Given the description of an element on the screen output the (x, y) to click on. 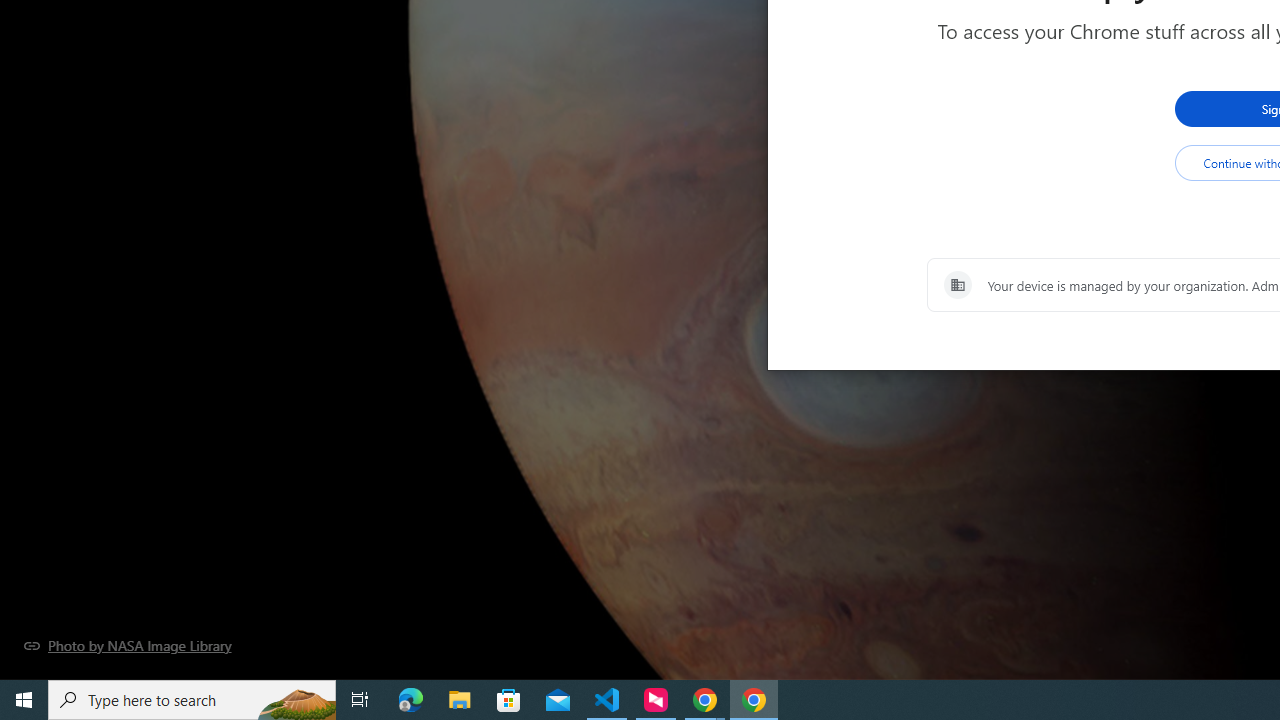
Google Chrome - 2 running windows (704, 699)
Microsoft Store (509, 699)
Google Chrome - 1 running window (754, 699)
Type here to search (191, 699)
Microsoft Edge (411, 699)
Start (24, 699)
File Explorer (460, 699)
Visual Studio Code - 1 running window (607, 699)
Search highlights icon opens search home window (295, 699)
Task View (359, 699)
